Given the description of an element on the screen output the (x, y) to click on. 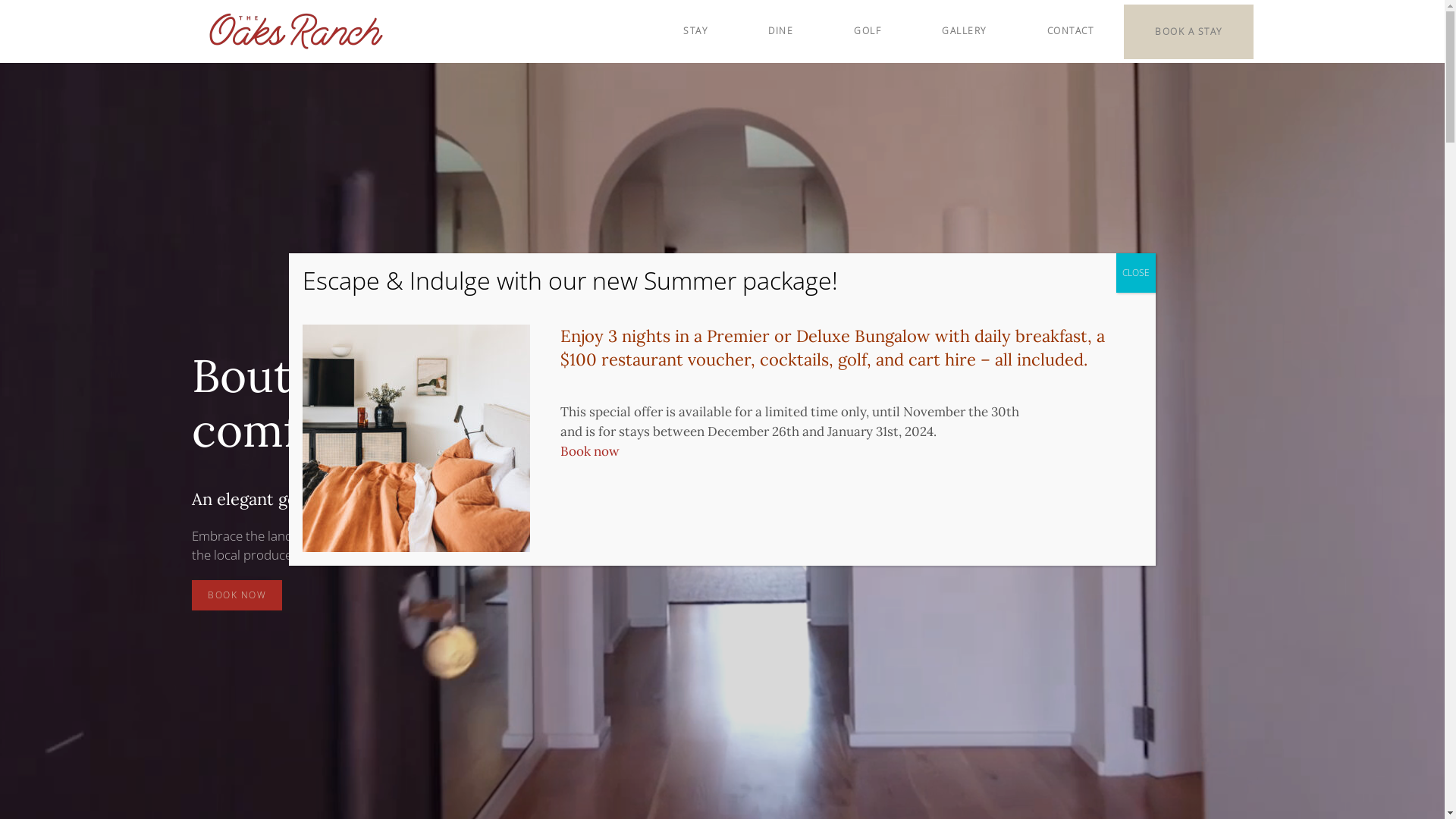
CONTACT Element type: text (1069, 30)
DINE Element type: text (780, 30)
BOOK A STAY Element type: text (1188, 30)
CLOSE Element type: text (1135, 272)
GOLF Element type: text (867, 30)
BOOK NOW Element type: text (236, 594)
Book now Element type: text (589, 450)
GALLERY Element type: text (963, 30)
STAY Element type: text (694, 30)
